Given the description of an element on the screen output the (x, y) to click on. 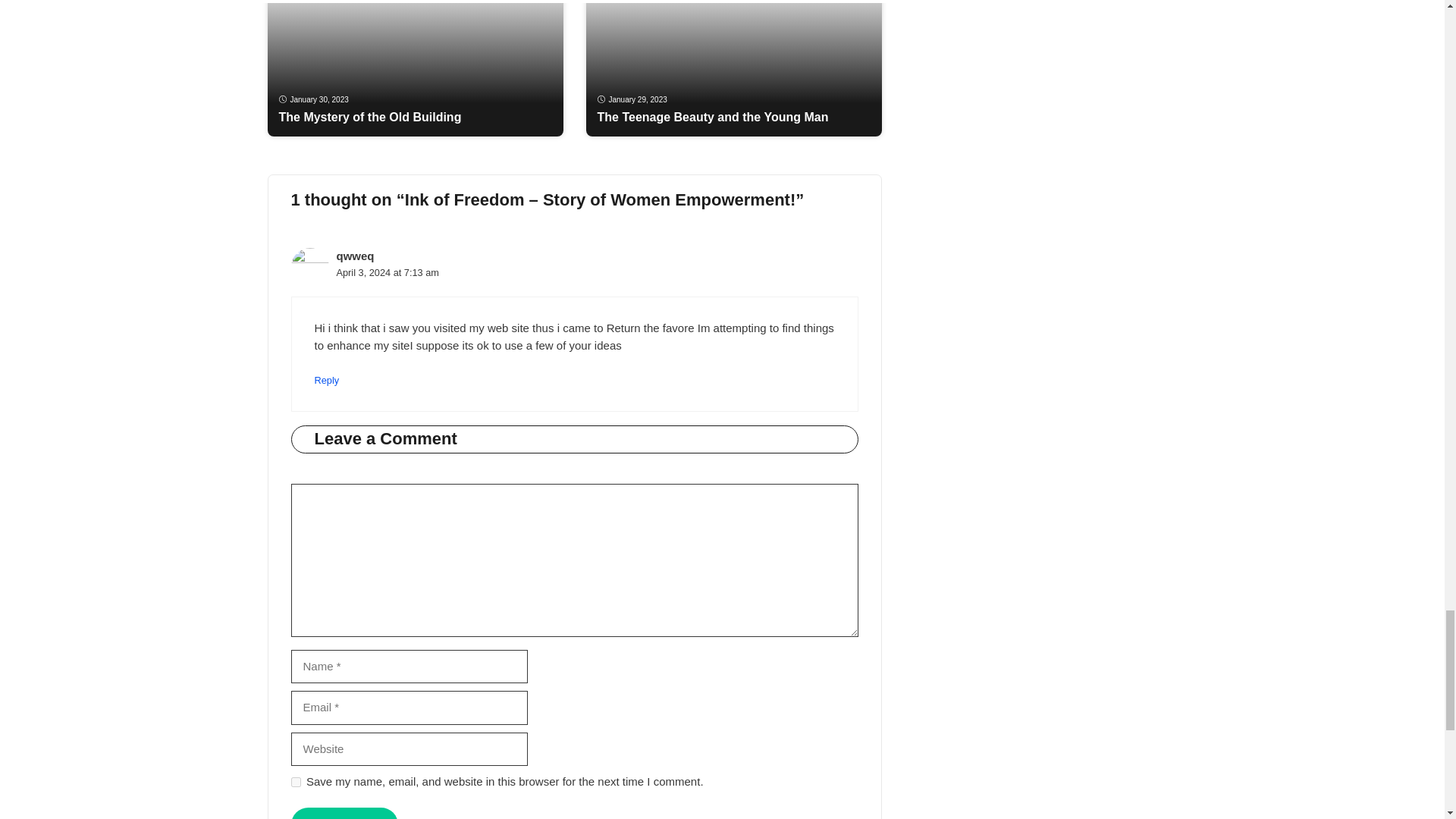
Reply (326, 379)
Post Comment (344, 813)
April 3, 2024 at 7:13 am (387, 272)
yes (296, 782)
